Given the description of an element on the screen output the (x, y) to click on. 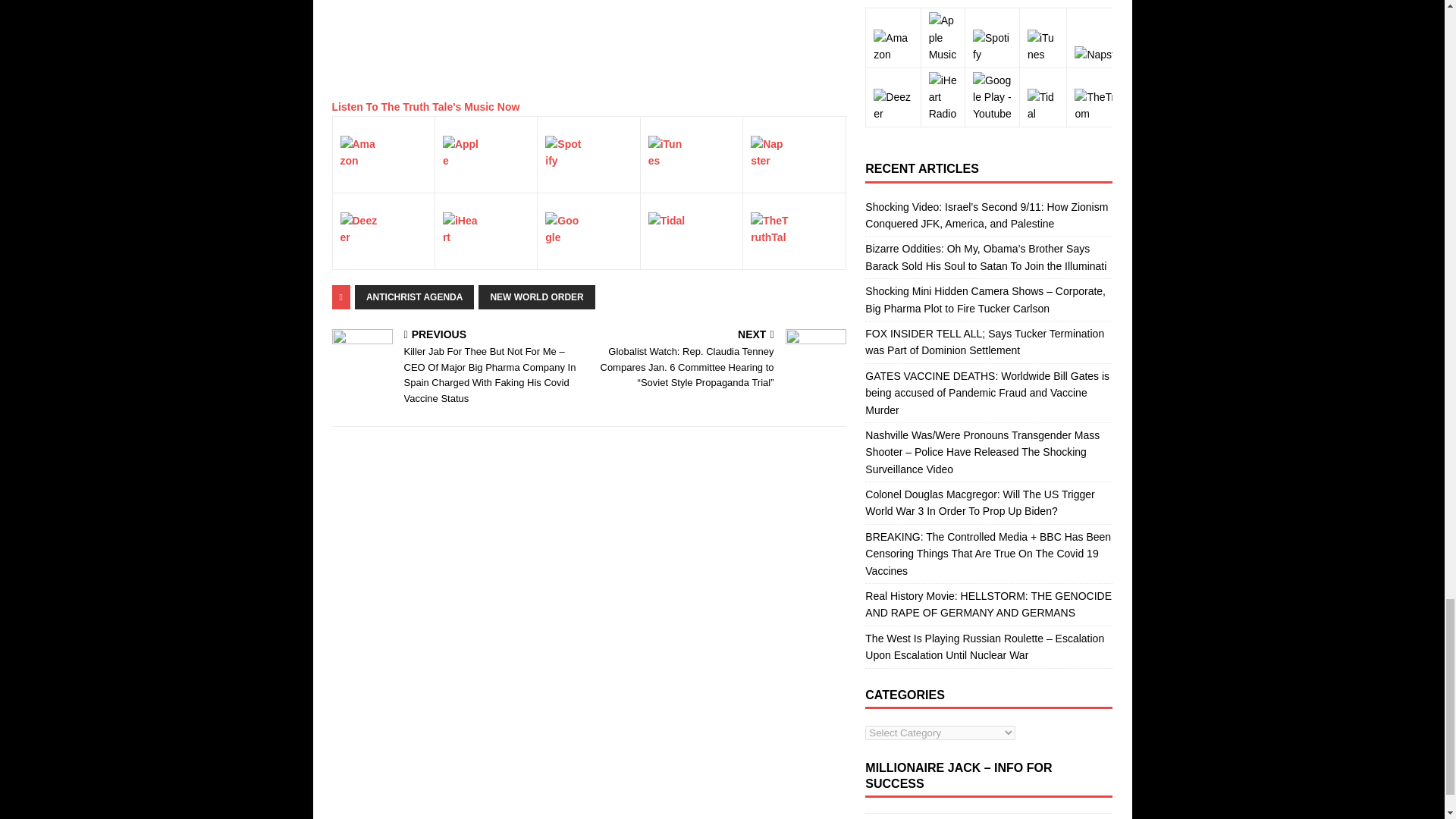
ANTICHRIST AGENDA (414, 297)
Listen To The Truth Tale's Music Now (425, 106)
NEW WORLD ORDER (536, 297)
